Given the description of an element on the screen output the (x, y) to click on. 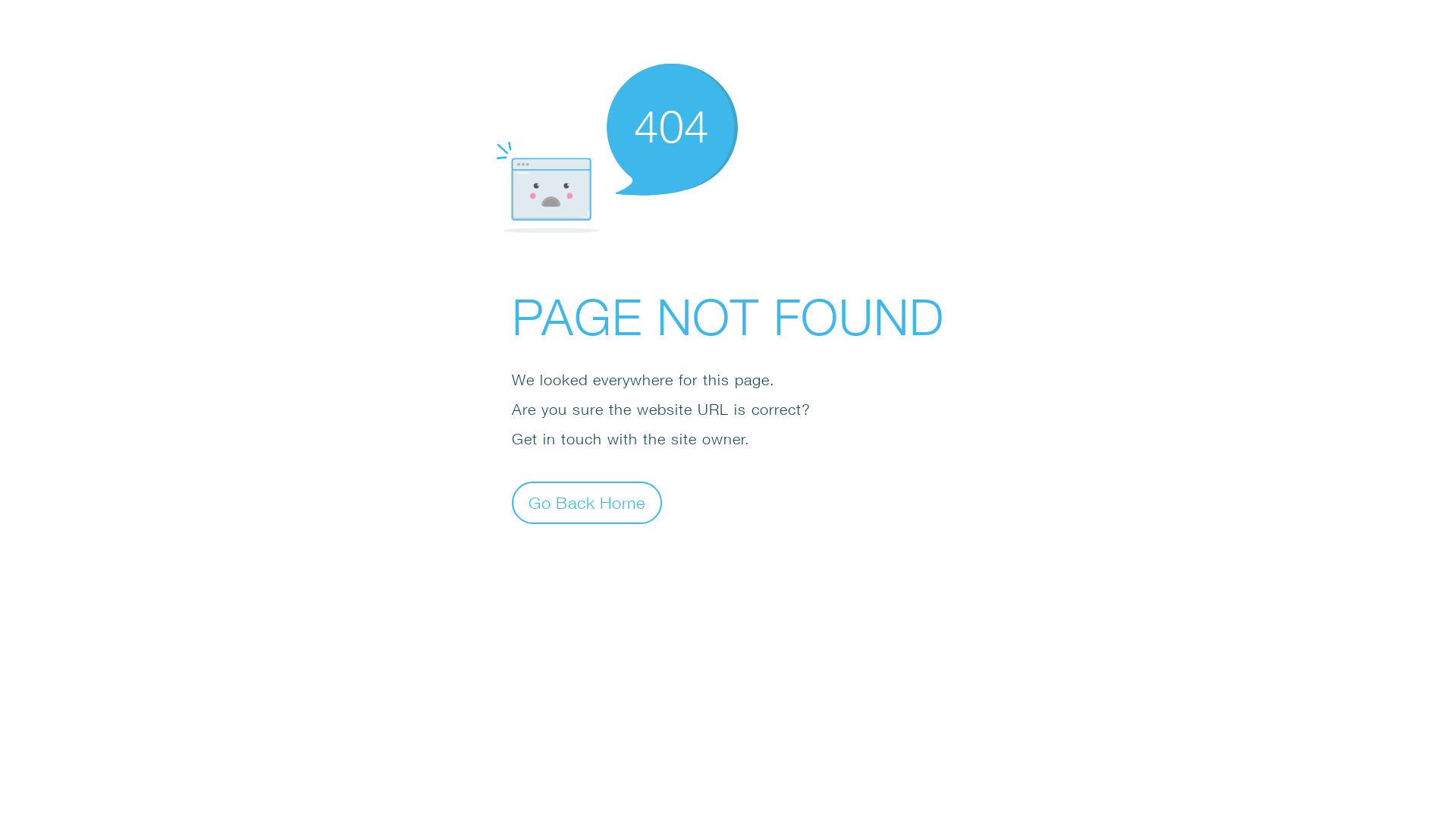
Go Back Home Element type: text (586, 502)
